Given the description of an element on the screen output the (x, y) to click on. 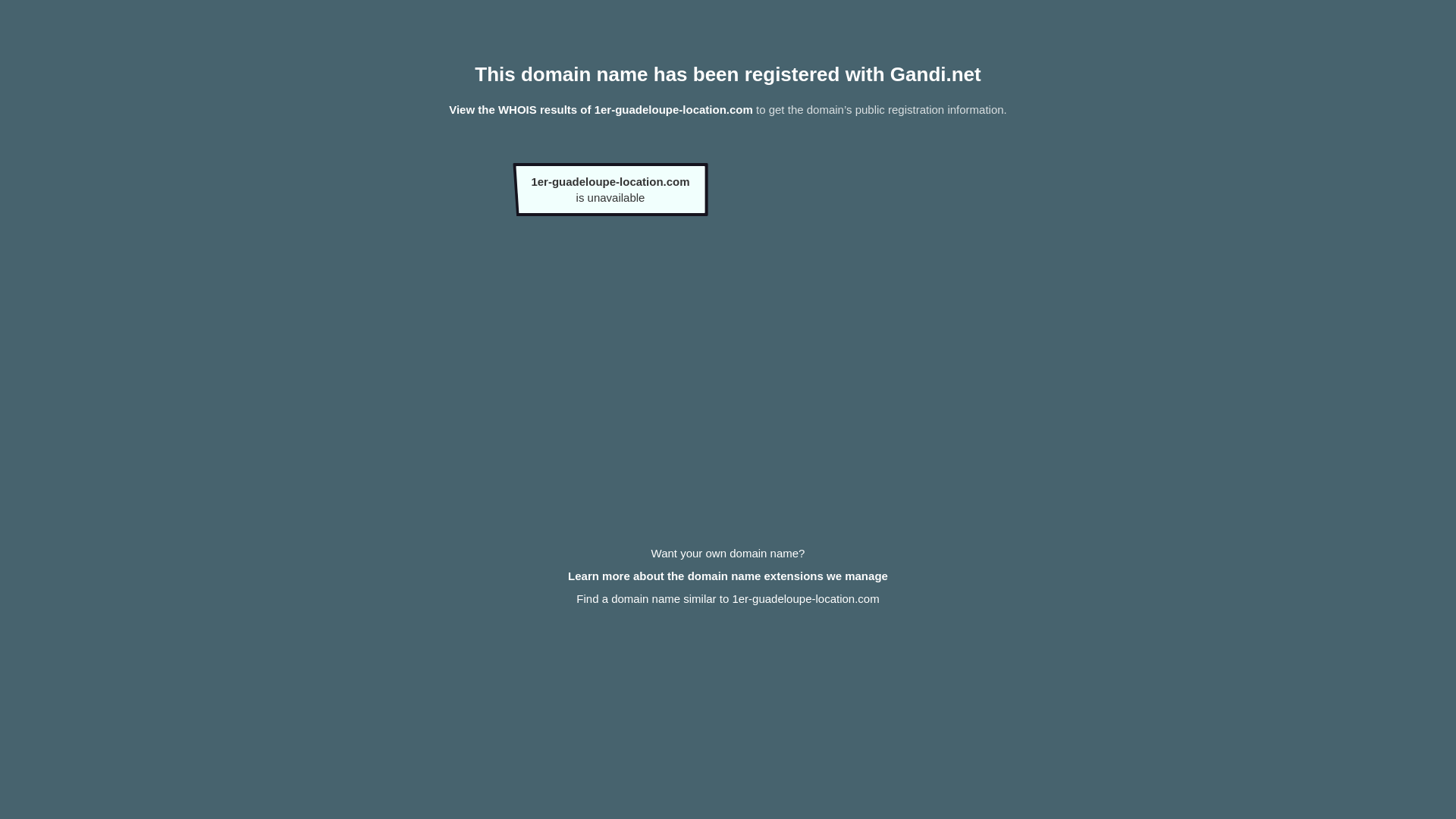
Find a domain name similar to 1er-guadeloupe-location.com Element type: text (727, 598)
Learn more about the domain name extensions we manage Element type: text (727, 575)
View the WHOIS results of 1er-guadeloupe-location.com Element type: text (600, 109)
